Given the description of an element on the screen output the (x, y) to click on. 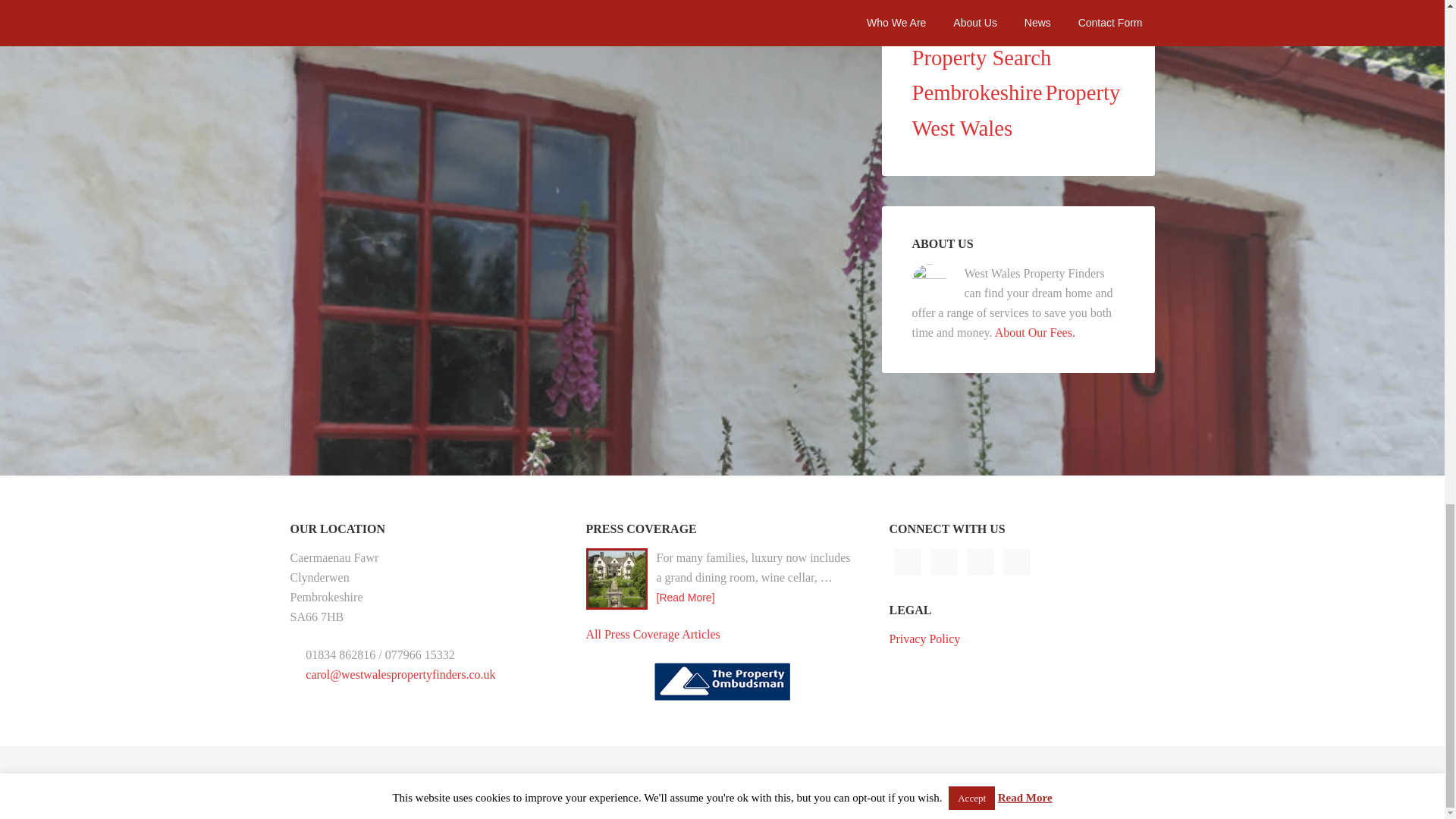
Press Coverage (652, 634)
